Given the description of an element on the screen output the (x, y) to click on. 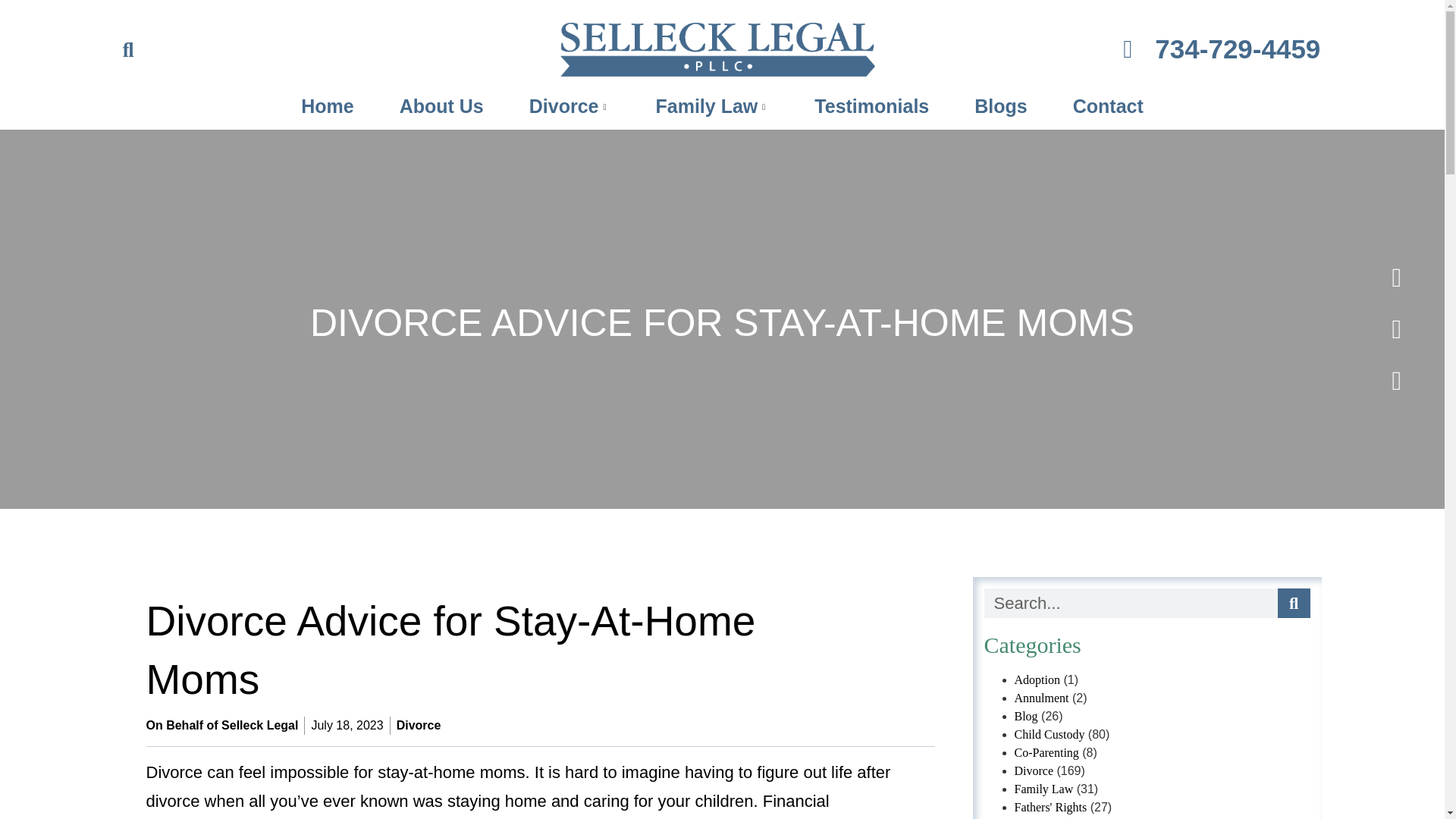
Divorce (569, 106)
Family Law (712, 106)
Testimonials (872, 106)
Logo9 - Selleck Legal, PLLC (717, 49)
About Us (441, 106)
Home (326, 106)
Blogs (1000, 106)
Contact (1107, 106)
734-729-4459 (1101, 49)
